Given the description of an element on the screen output the (x, y) to click on. 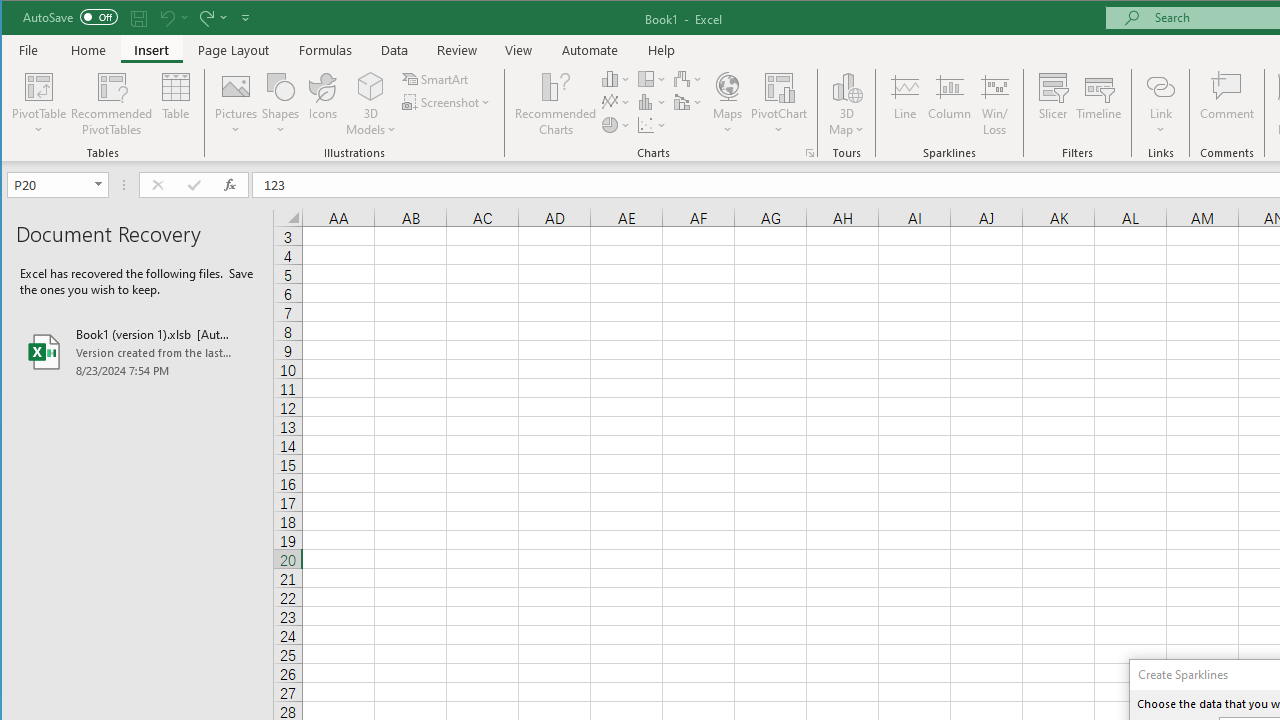
Column (949, 104)
3D Map (846, 86)
3D Models (371, 86)
Slicer... (1052, 104)
Table (175, 104)
Maps (727, 104)
PivotTable (39, 104)
Recommended PivotTables (111, 104)
Win/Loss (995, 104)
Insert Pie or Doughnut Chart (616, 124)
